Given the description of an element on the screen output the (x, y) to click on. 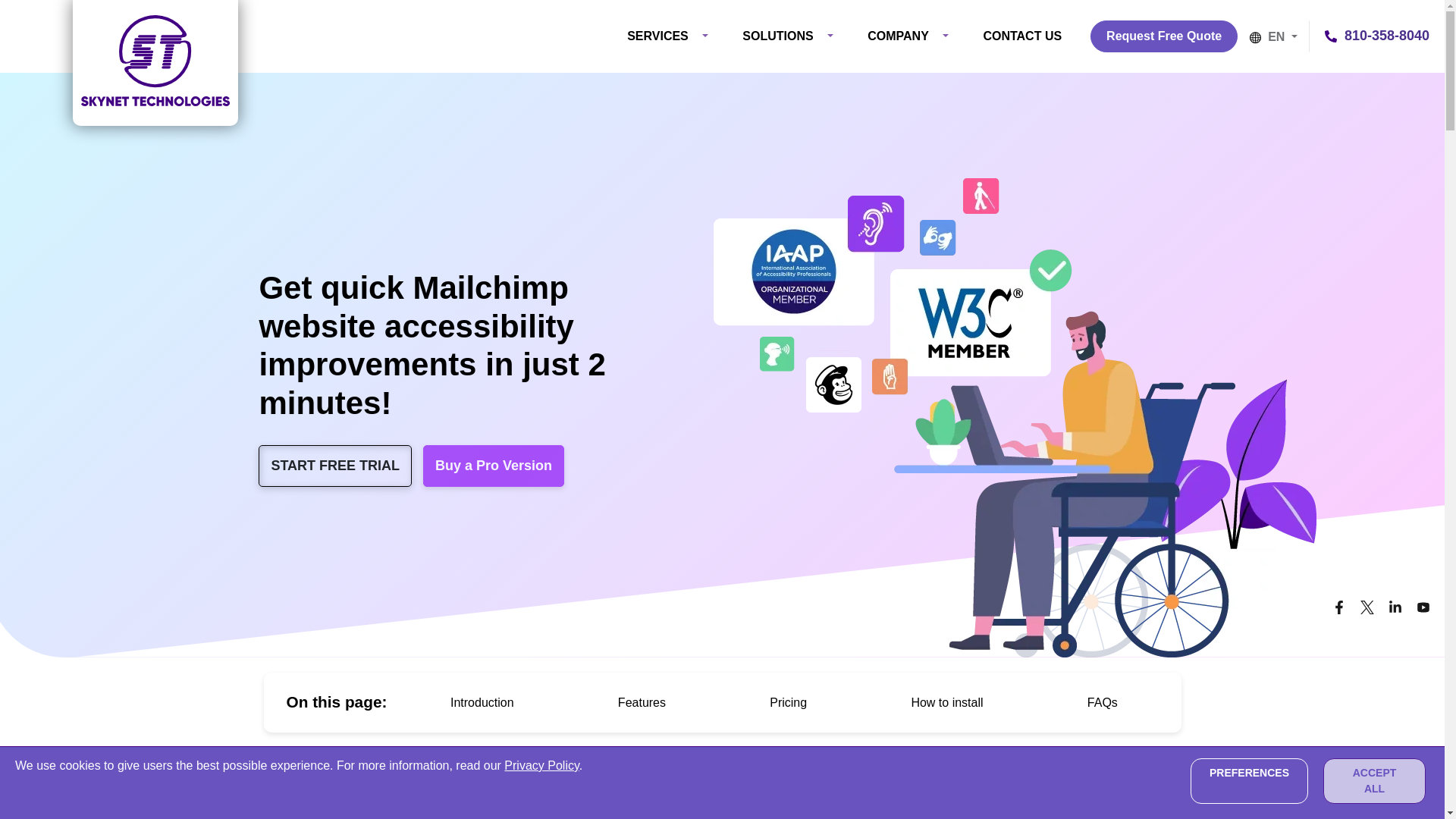
Home (155, 63)
Call us (1376, 35)
EN (1278, 36)
